Given the description of an element on the screen output the (x, y) to click on. 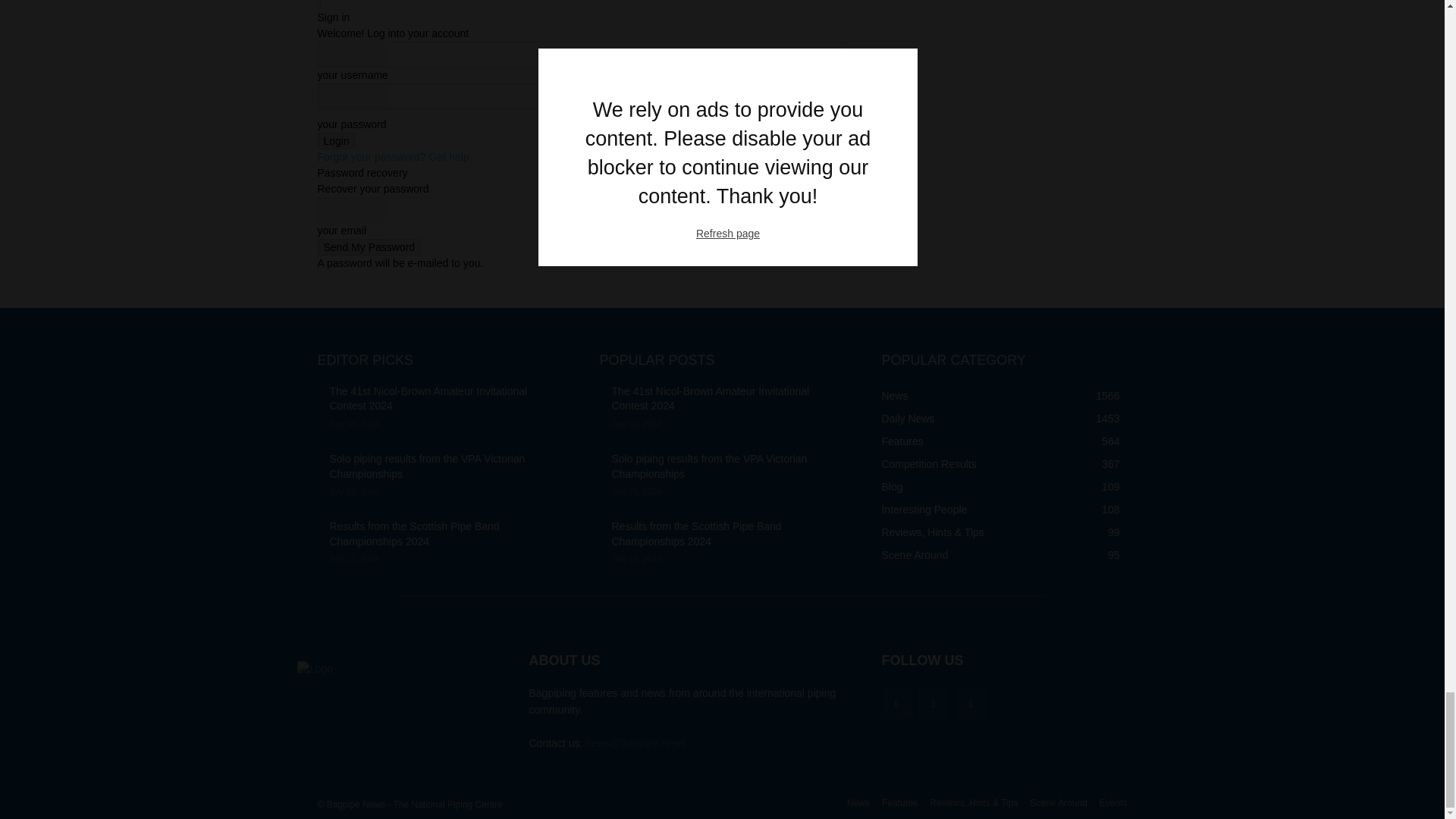
Send My Password (368, 247)
Login (336, 140)
